Given the description of an element on the screen output the (x, y) to click on. 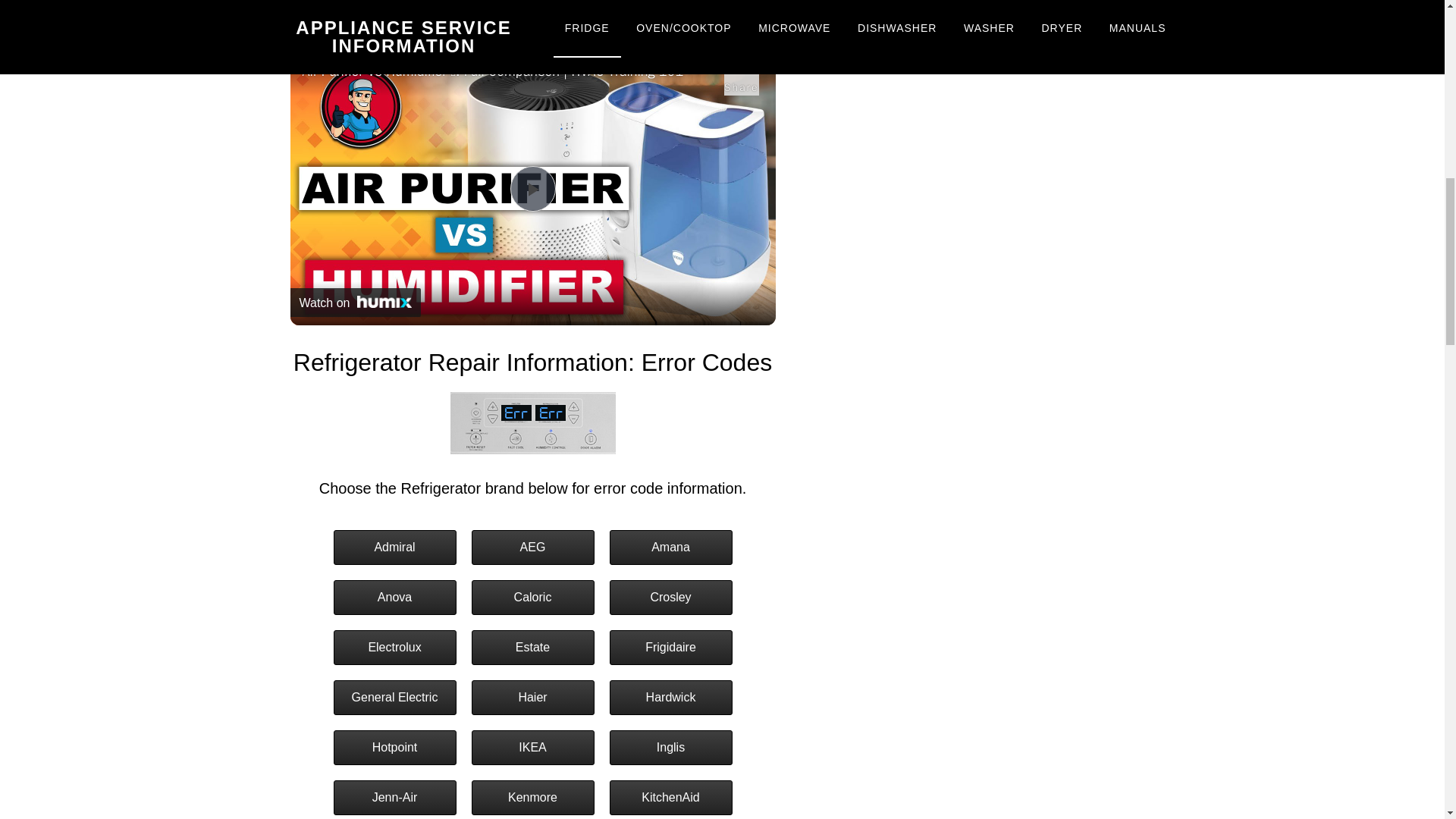
Hotpoint (395, 747)
Estate (532, 647)
Play Video (531, 188)
Caloric (532, 597)
AEG (532, 547)
Crosley (671, 597)
IKEA (532, 747)
Haier (532, 697)
Electrolux (395, 647)
Play Video (531, 188)
Amana (671, 547)
Frigidaire (671, 647)
Hardwick (671, 697)
Admiral (395, 547)
Anova (395, 597)
